Given the description of an element on the screen output the (x, y) to click on. 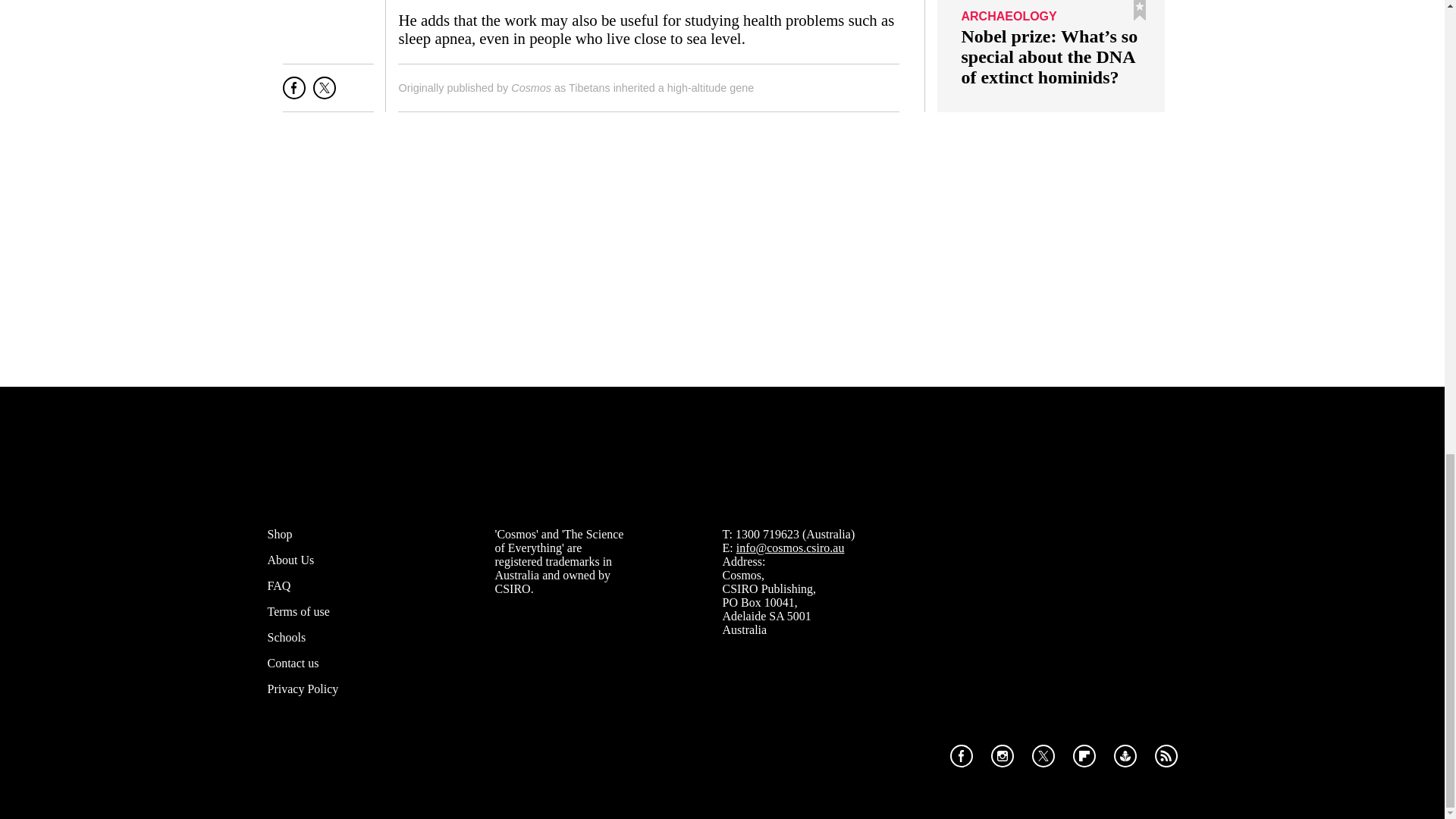
Tibetans inherited a high-altitude gene (661, 87)
Tweet (324, 93)
Share on Facebook (293, 93)
